Given the description of an element on the screen output the (x, y) to click on. 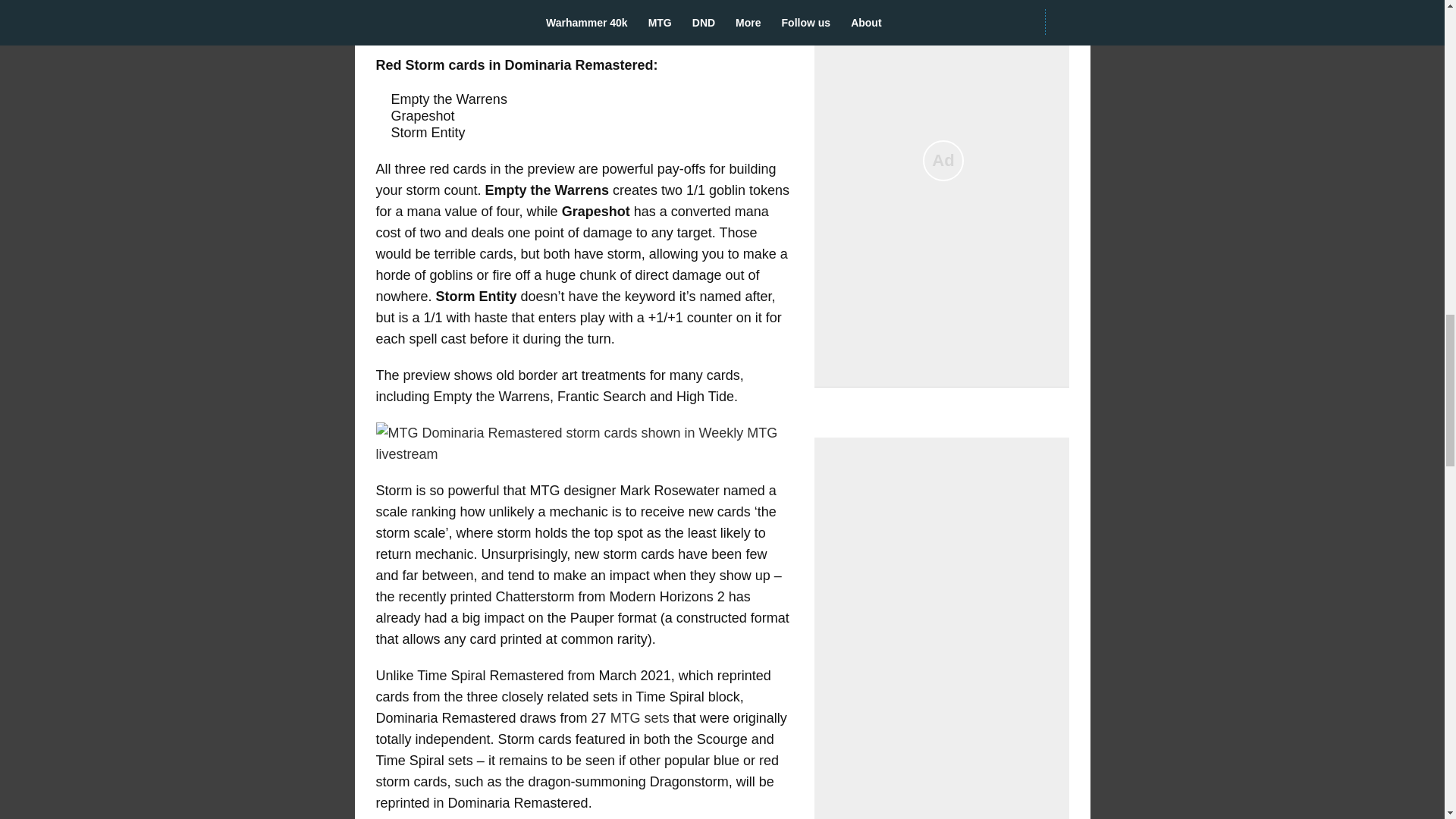
MTG sets (639, 717)
mtg-dominaria-remastered-storm-cards (584, 443)
